Given the description of an element on the screen output the (x, y) to click on. 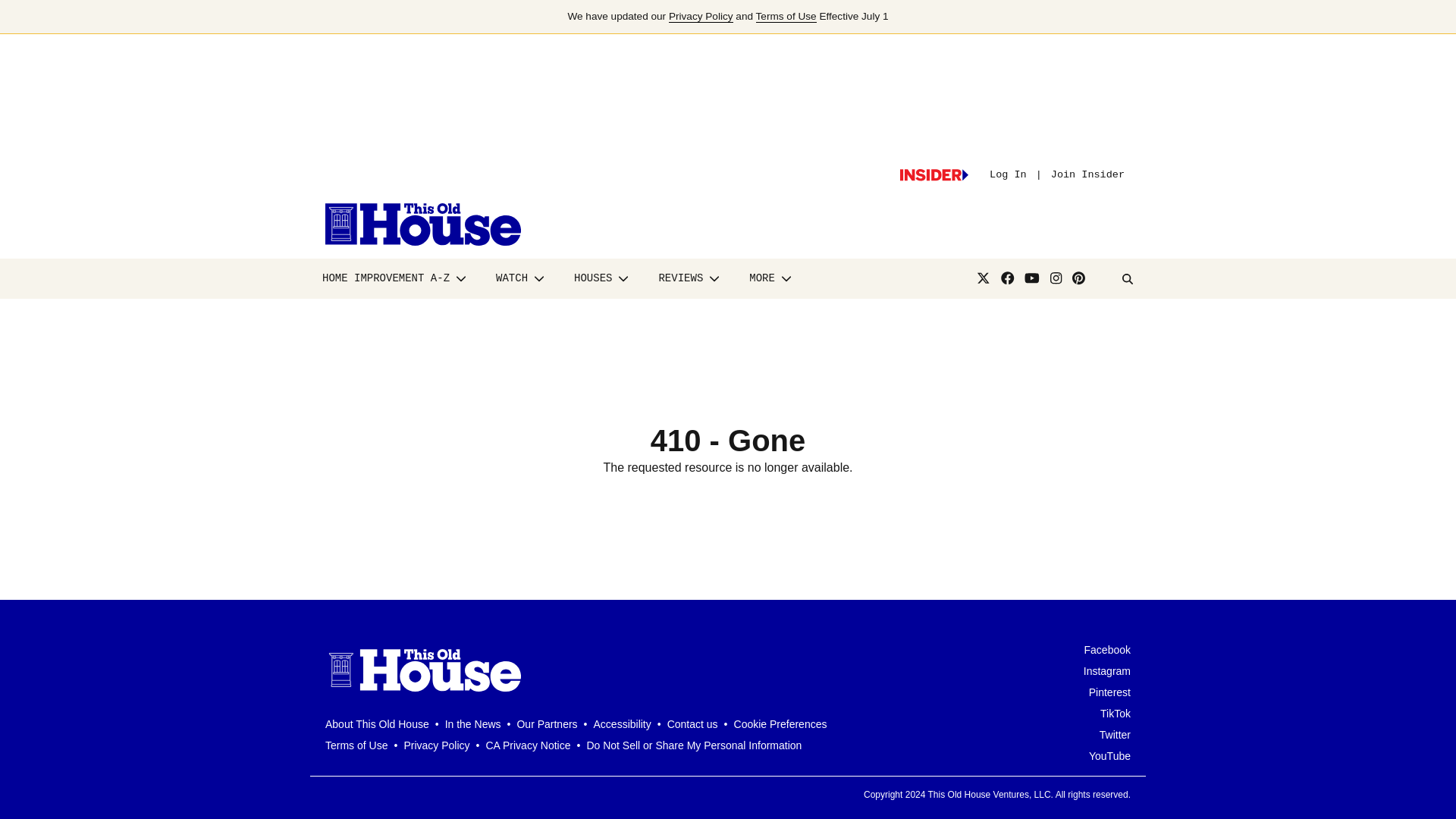
Log In (1008, 174)
Join Insider (1087, 174)
Log in or sign up (933, 174)
Privacy Policy (700, 16)
Terms of Use (785, 16)
